Given the description of an element on the screen output the (x, y) to click on. 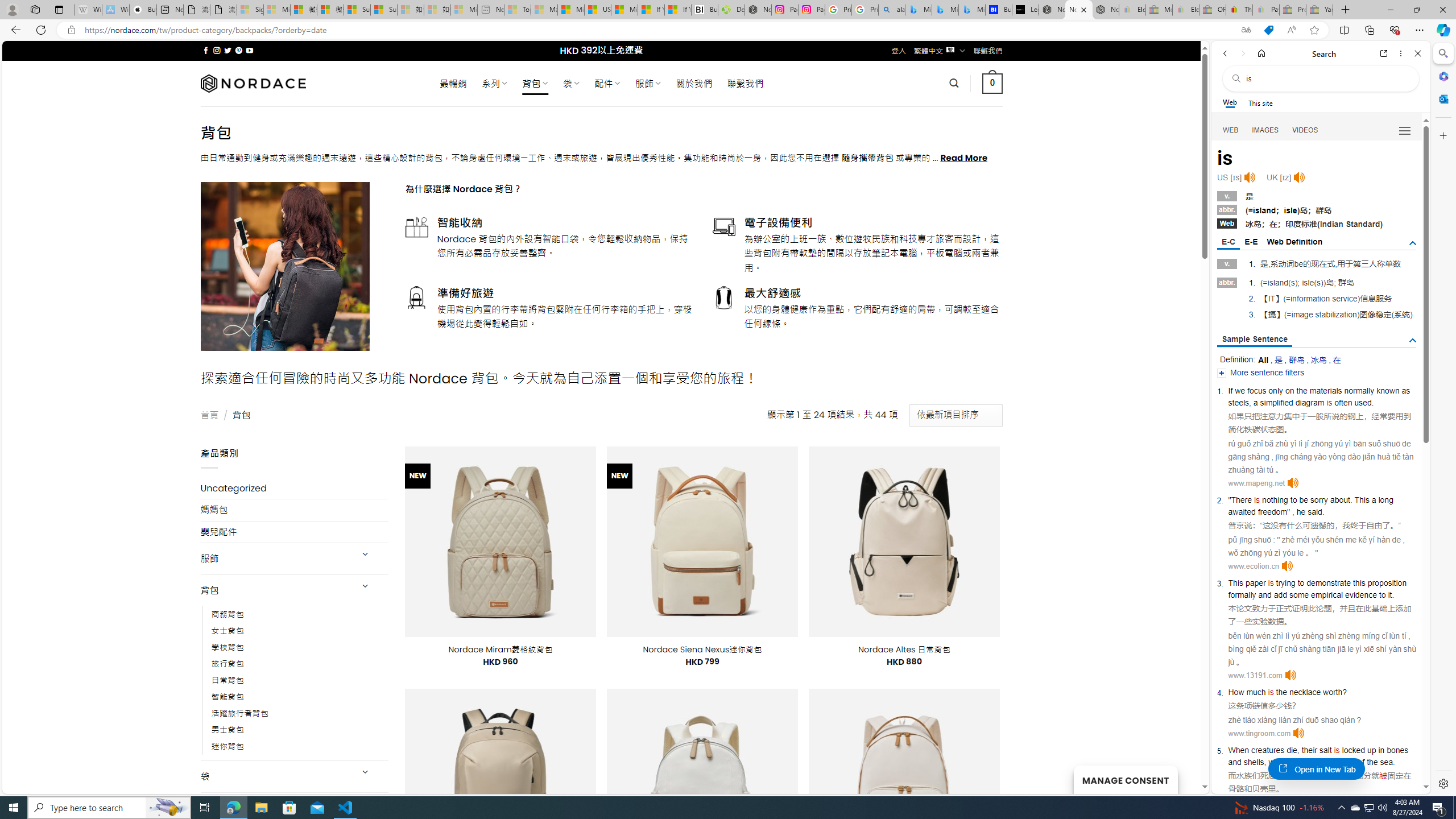
bottom (1342, 761)
. (1393, 761)
 0  (992, 83)
Follow on Twitter (227, 50)
